Given the description of an element on the screen output the (x, y) to click on. 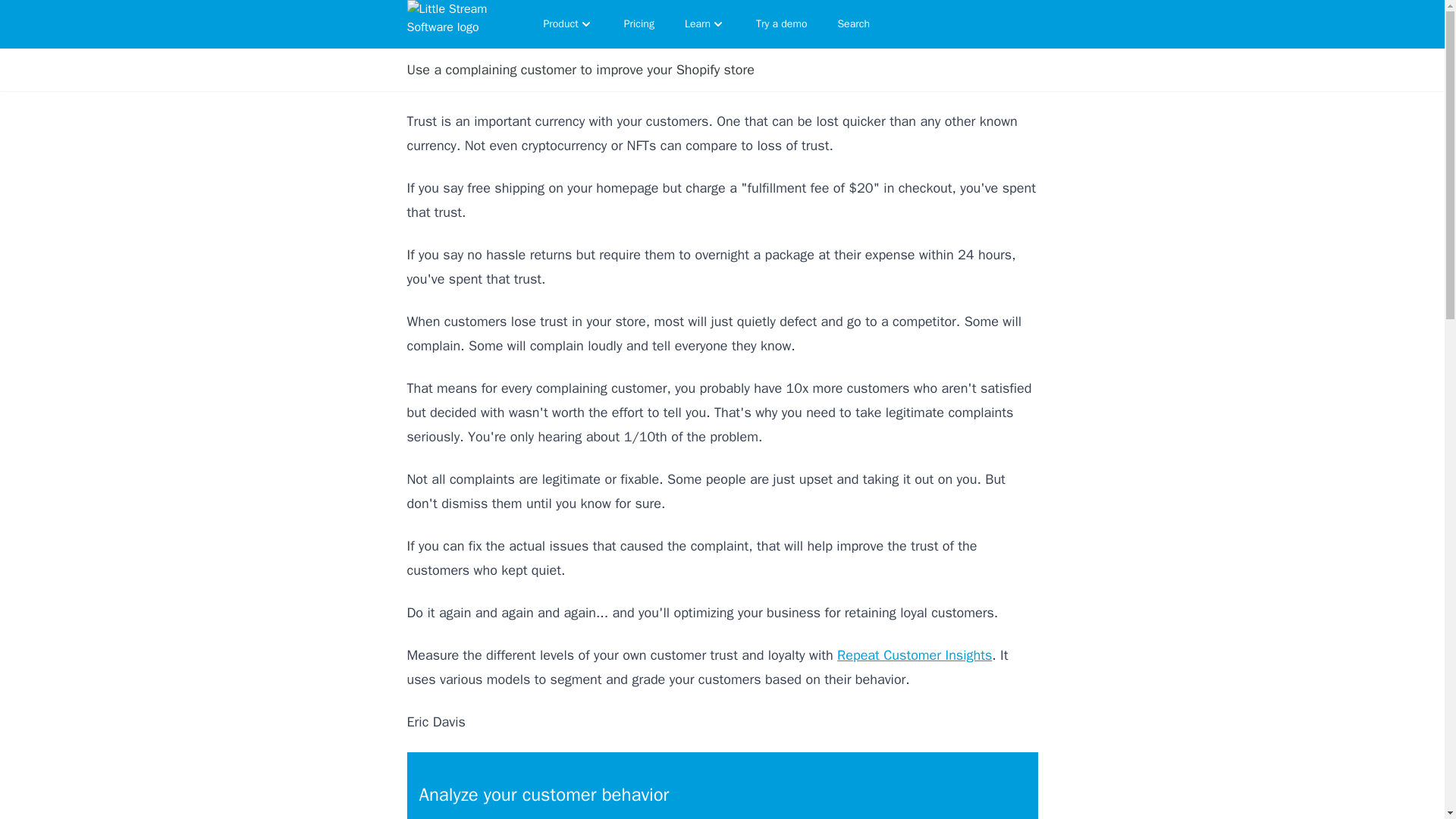
Try a demo (780, 23)
Pricing (638, 23)
Product (568, 23)
Home (454, 24)
Repeat Customer Insights (914, 655)
Learn (705, 23)
Search (853, 23)
